Given the description of an element on the screen output the (x, y) to click on. 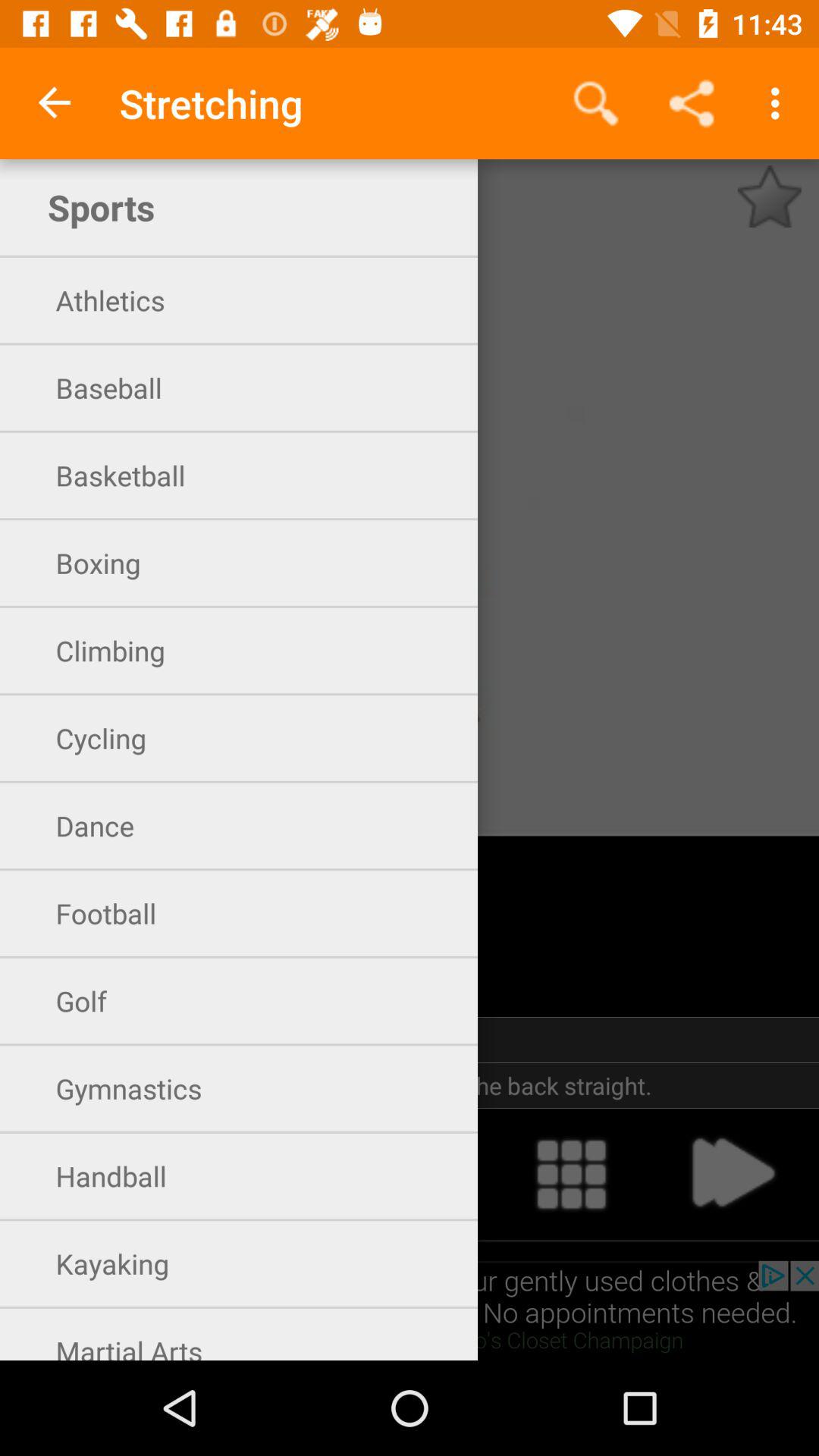
select this option (86, 1174)
